Given the description of an element on the screen output the (x, y) to click on. 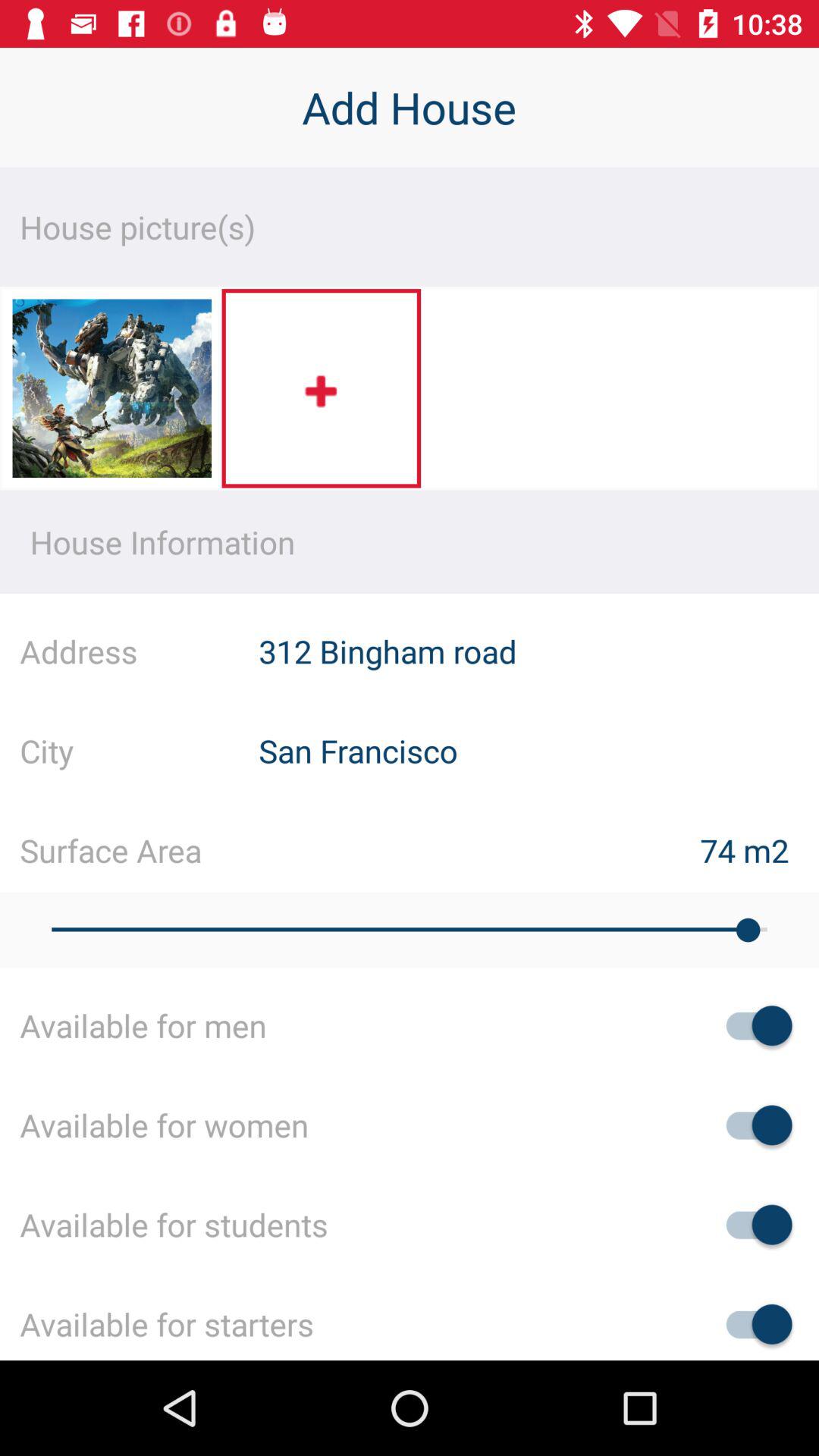
choose icon at the top left corner (111, 393)
